Given the description of an element on the screen output the (x, y) to click on. 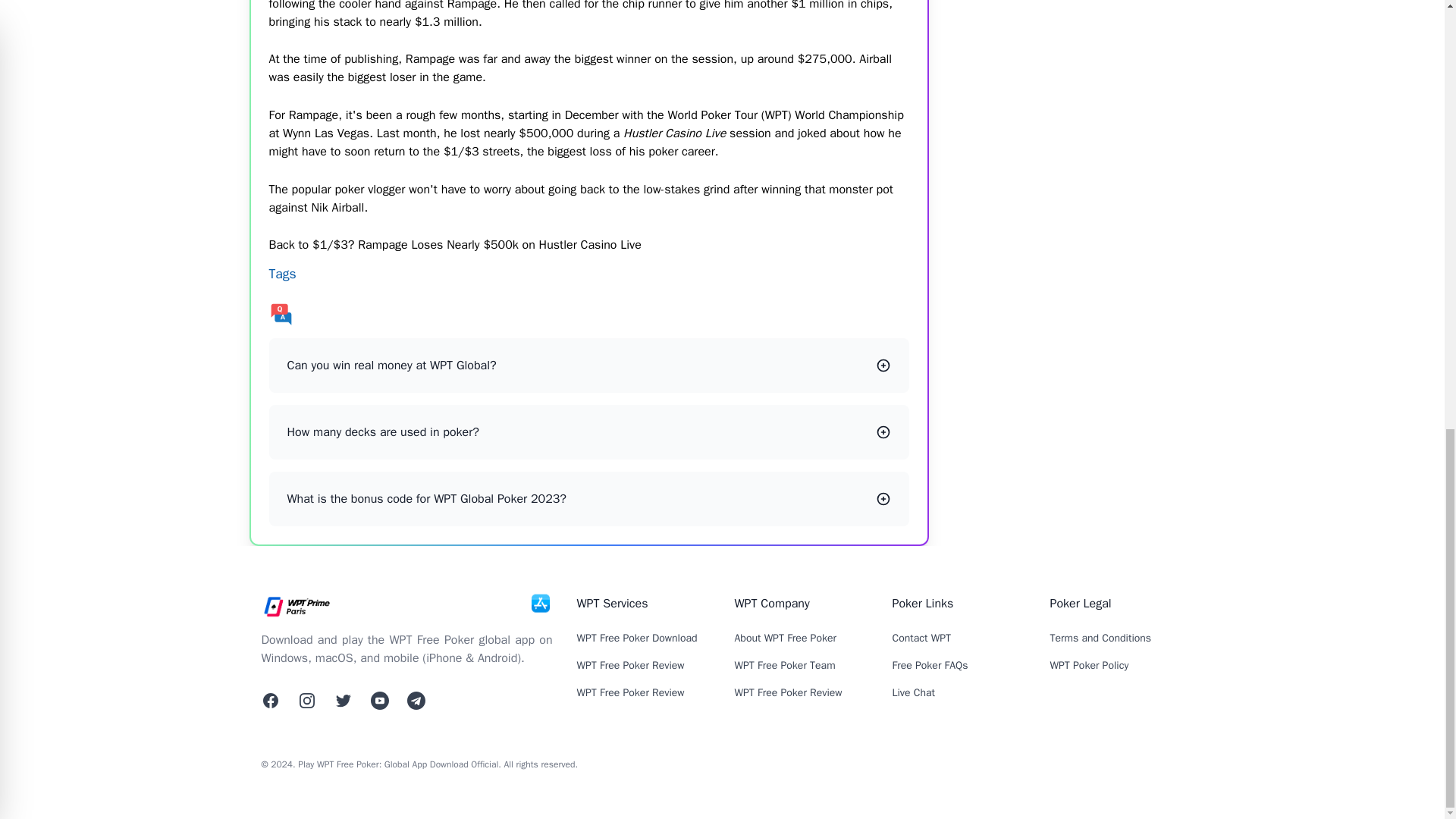
FAQs list (587, 313)
